Given the description of an element on the screen output the (x, y) to click on. 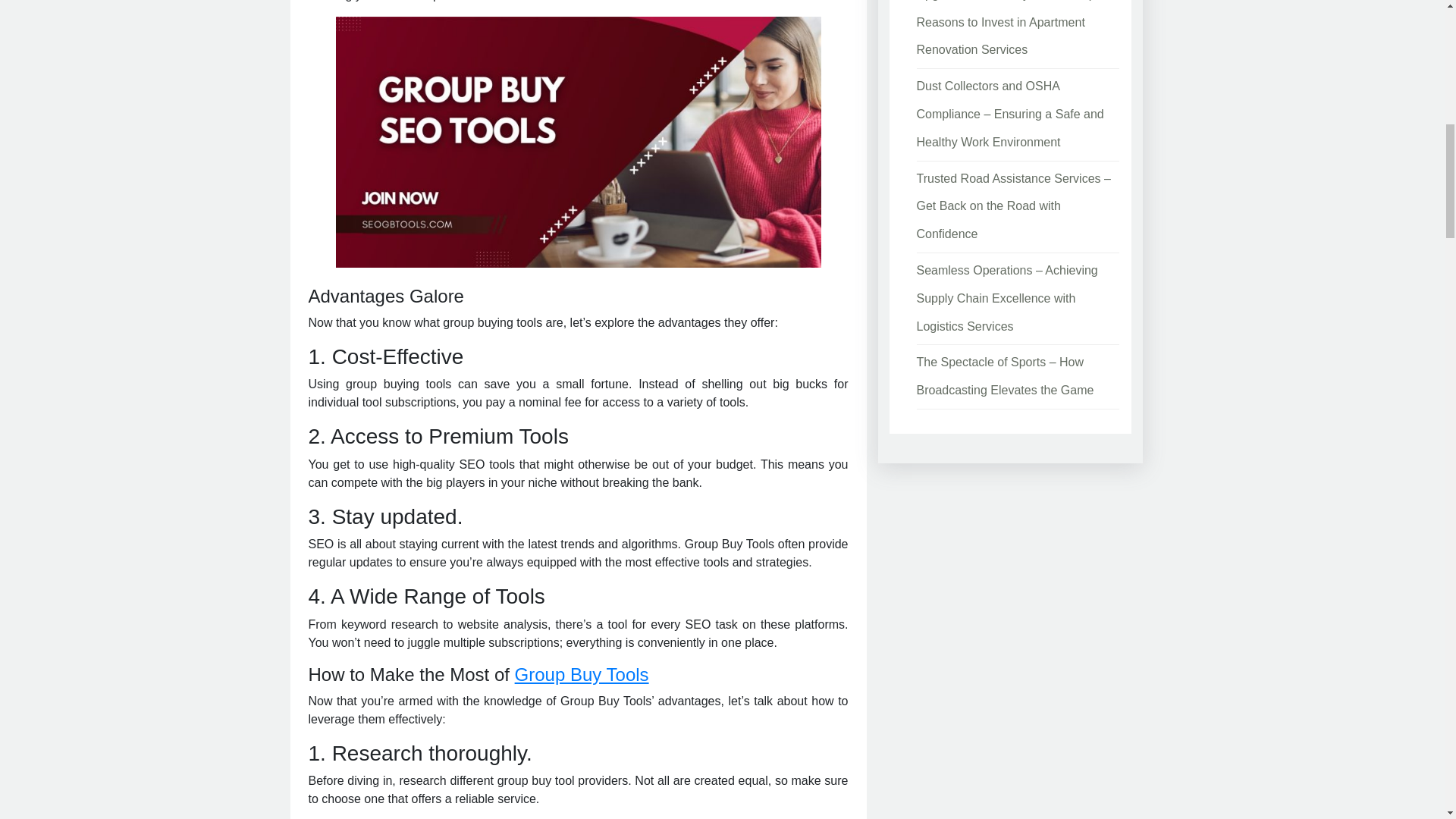
Group Buy Tools (582, 674)
